Given the description of an element on the screen output the (x, y) to click on. 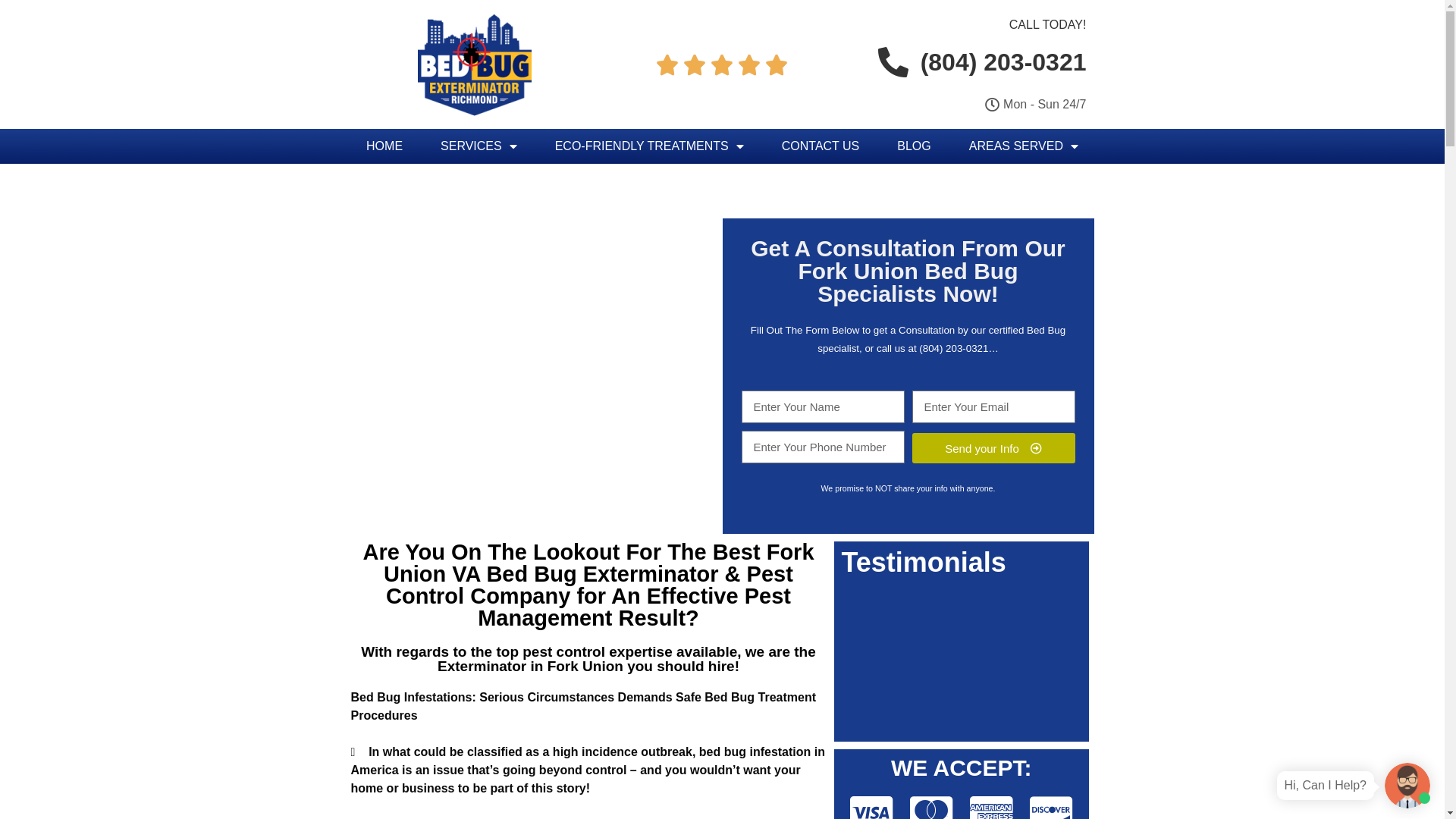
ECO-FRIENDLY TREATMENTS Element type: text (649, 145)
SERVICES Element type: text (478, 145)
Exterminator in Fork Union Element type: text (530, 666)
AREAS SERVED Element type: text (1023, 145)
CONTACT US Element type: text (820, 145)
(804) 203-0321 Element type: text (953, 348)
HOME Element type: text (384, 145)
BLOG Element type: text (913, 145)
Send your Info Element type: text (992, 448)
Best Fork Union VA Bed Bug Exterminator & Pest Control Element type: text (598, 573)
(804) 203-0321 Element type: text (978, 61)
